Given the description of an element on the screen output the (x, y) to click on. 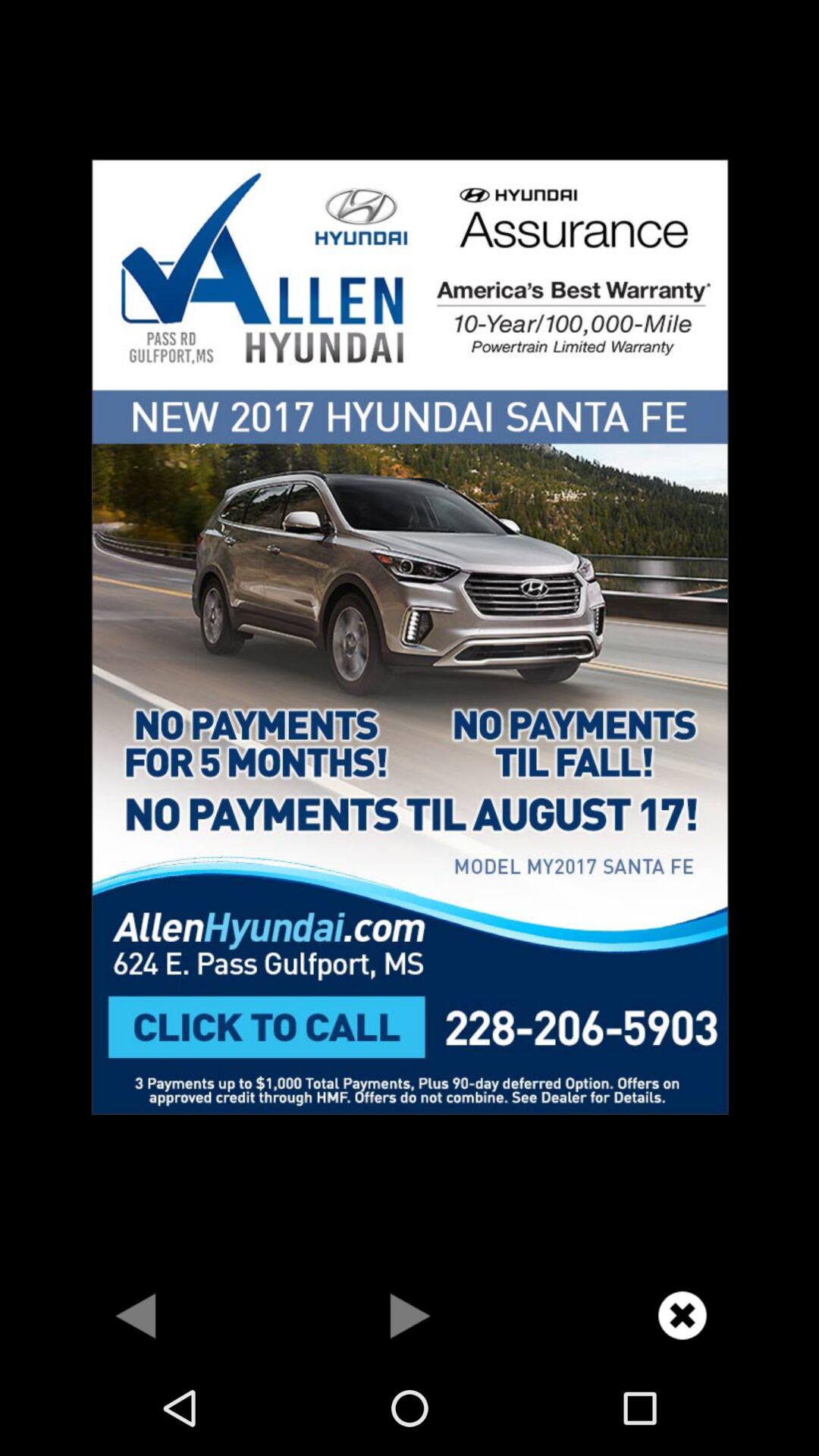
for back (136, 1315)
